Given the description of an element on the screen output the (x, y) to click on. 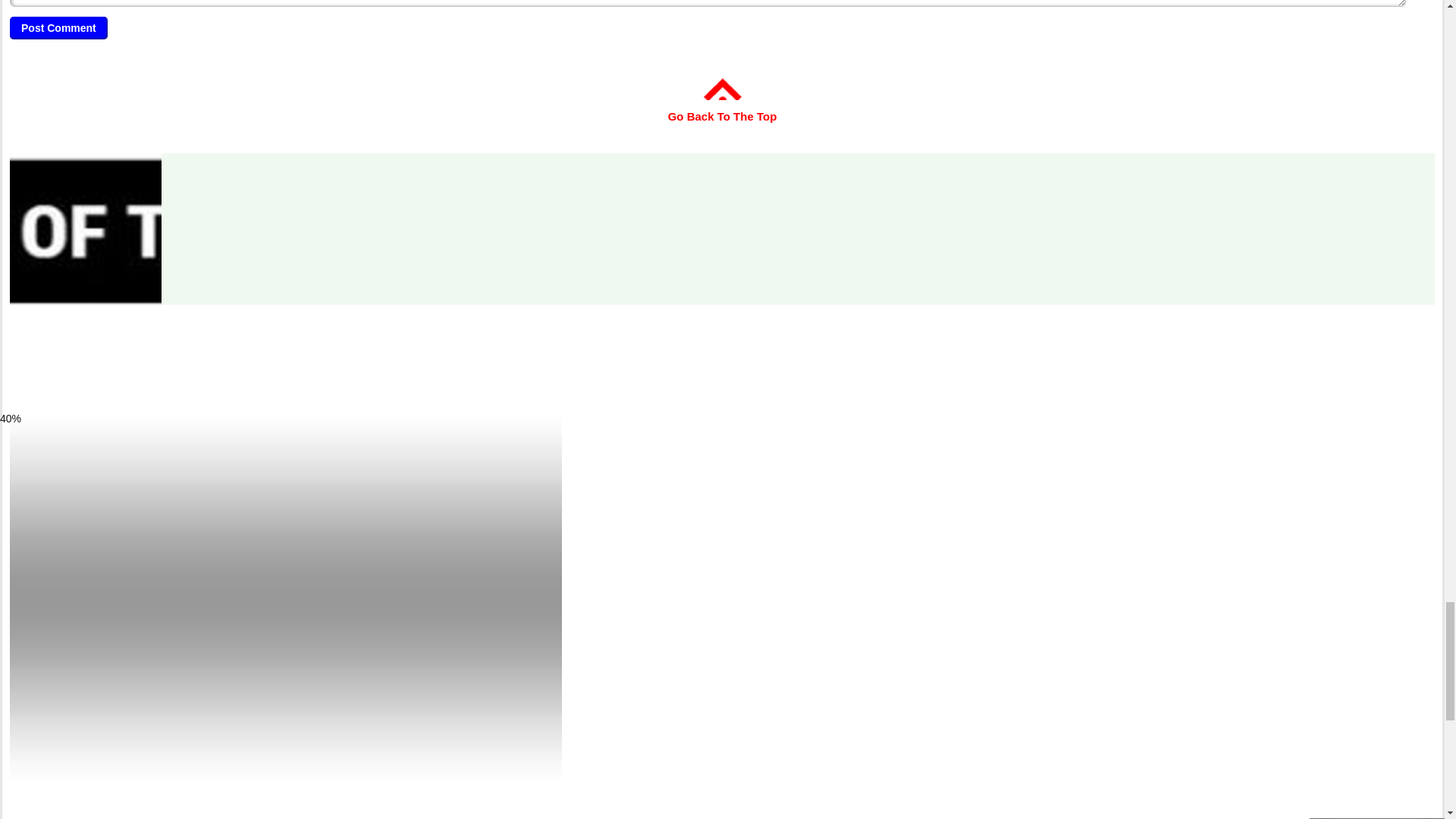
Go Back To The Top (722, 105)
Post Comment (58, 27)
Post Comment (58, 27)
